Given the description of an element on the screen output the (x, y) to click on. 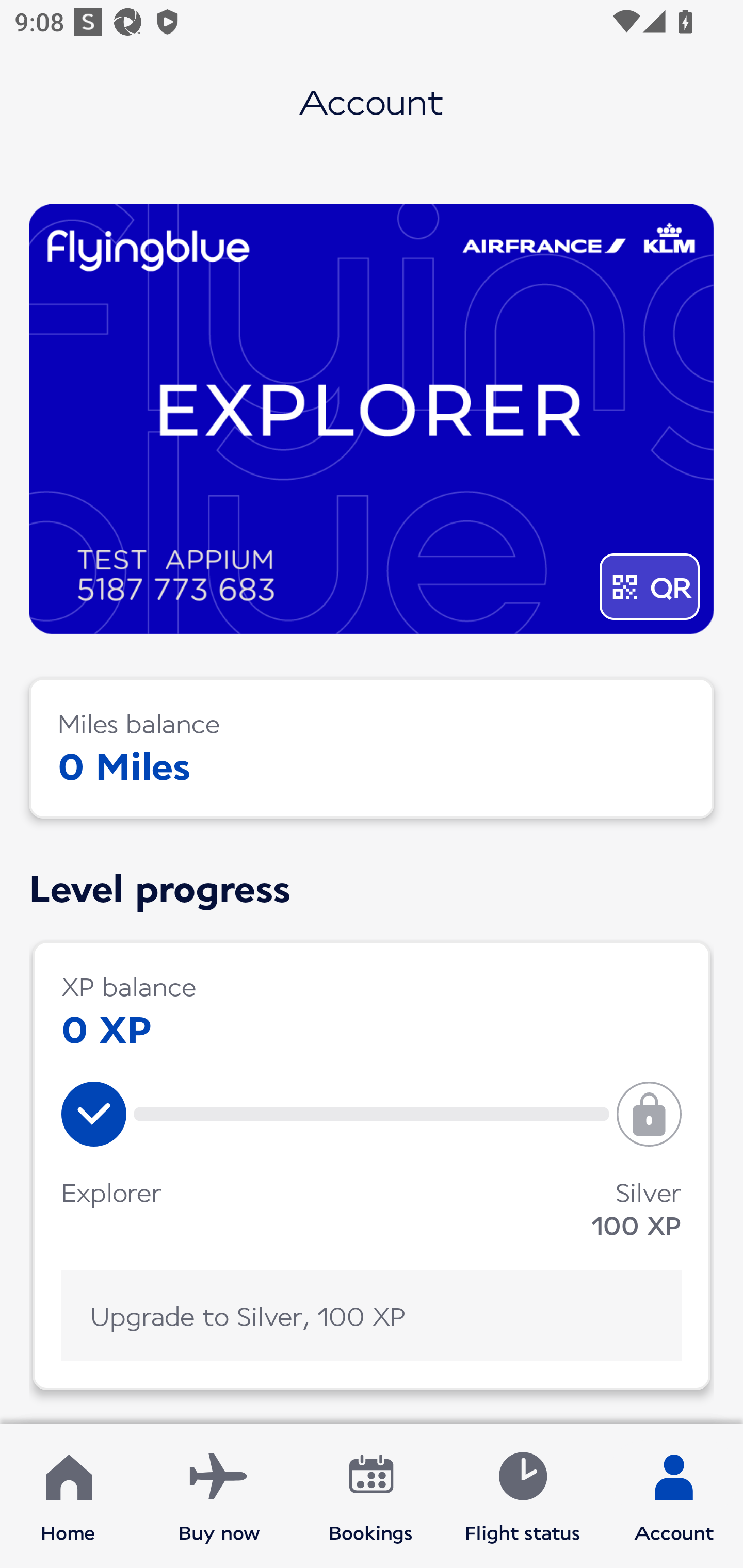
Miles balance 0 Miles (371, 747)
Home (68, 1495)
Buy now (219, 1495)
Bookings (370, 1495)
Flight status (522, 1495)
